Given the description of an element on the screen output the (x, y) to click on. 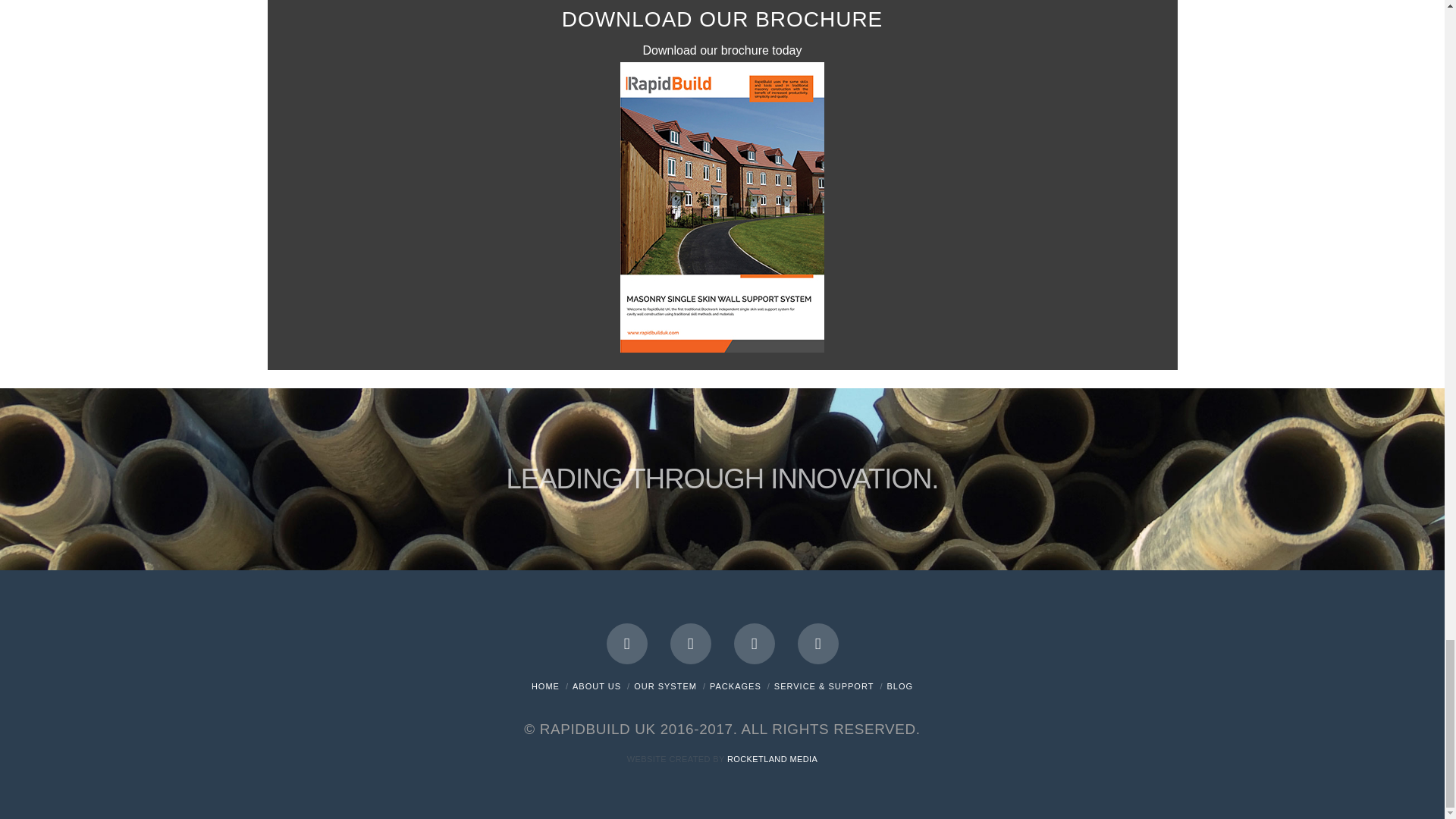
Instagram (817, 643)
YouTube (753, 643)
Facebook (627, 643)
Twitter (690, 643)
